Given the description of an element on the screen output the (x, y) to click on. 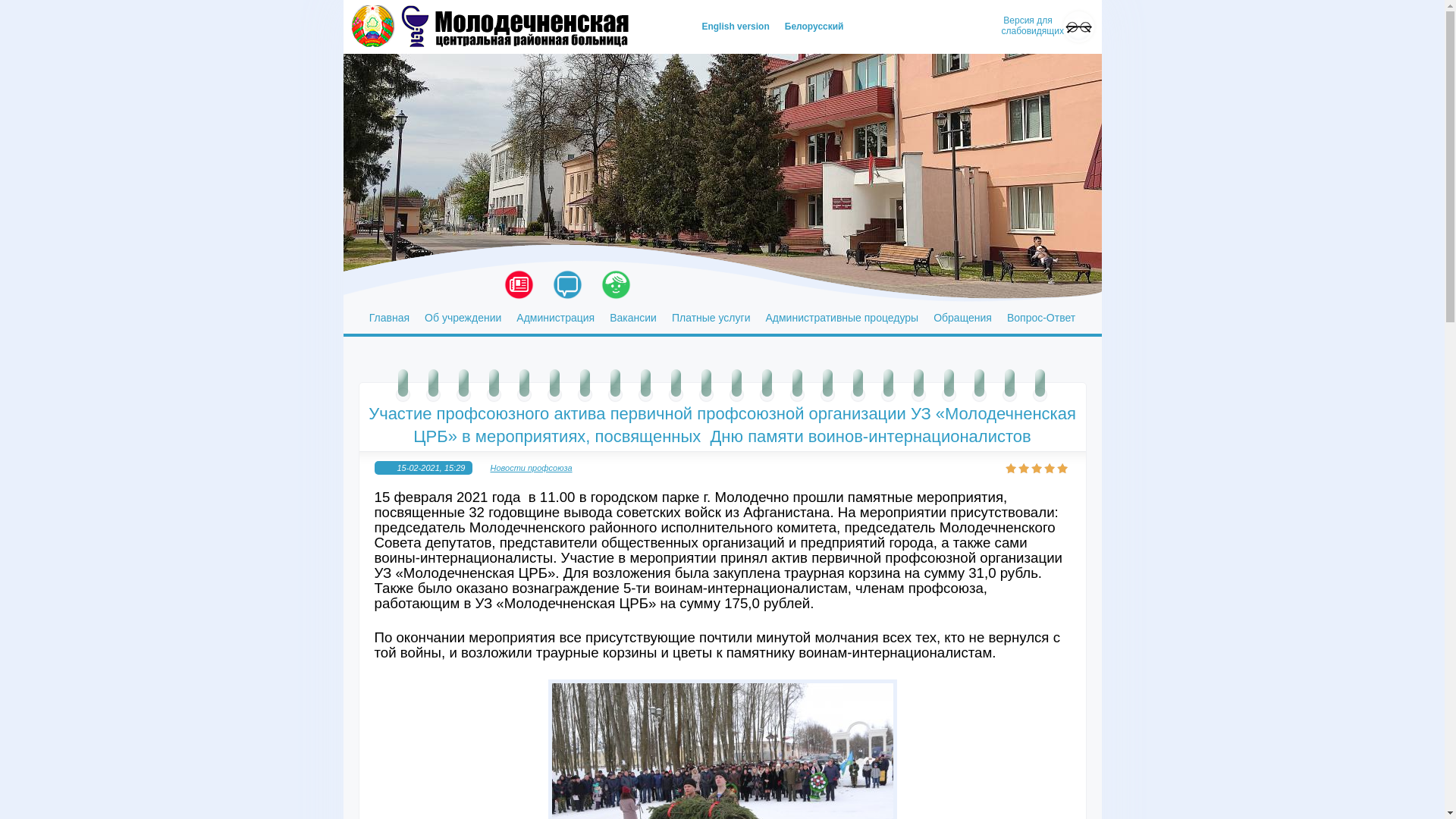
2 Element type: text (1024, 467)
3 Element type: text (1036, 467)
English version Element type: text (734, 26)
5 Element type: text (1062, 467)
4 Element type: text (1050, 467)
1 Element type: text (1010, 467)
